Given the description of an element on the screen output the (x, y) to click on. 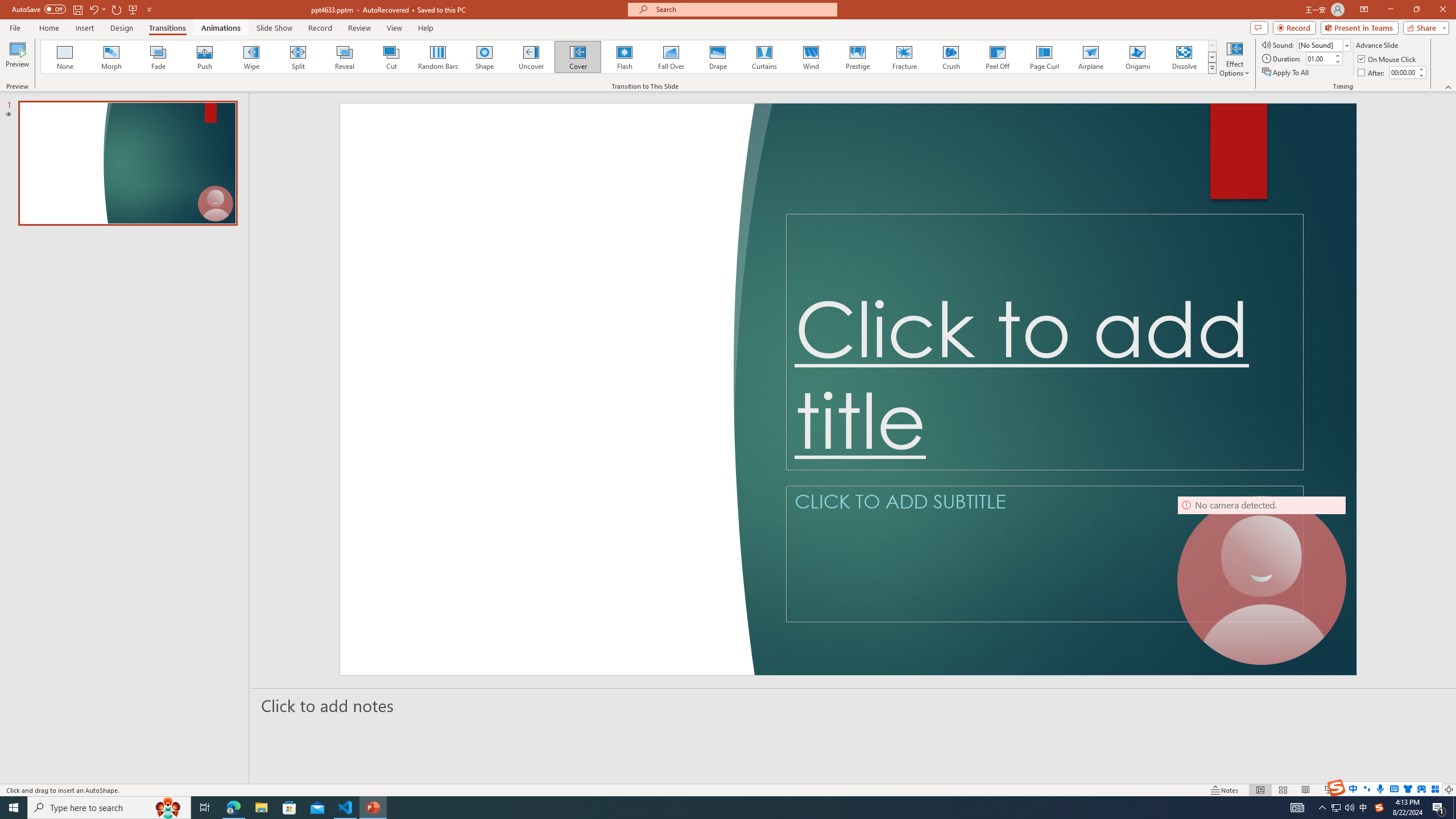
AutomationID: ThemeVariantsGallery (1195, 56)
Ion Boardroom Loading Preview... (350, 56)
Droplet Loading Preview... (931, 56)
Facet (138, 56)
Ion Variant 1 (1112, 56)
Integral (244, 56)
